Given the description of an element on the screen output the (x, y) to click on. 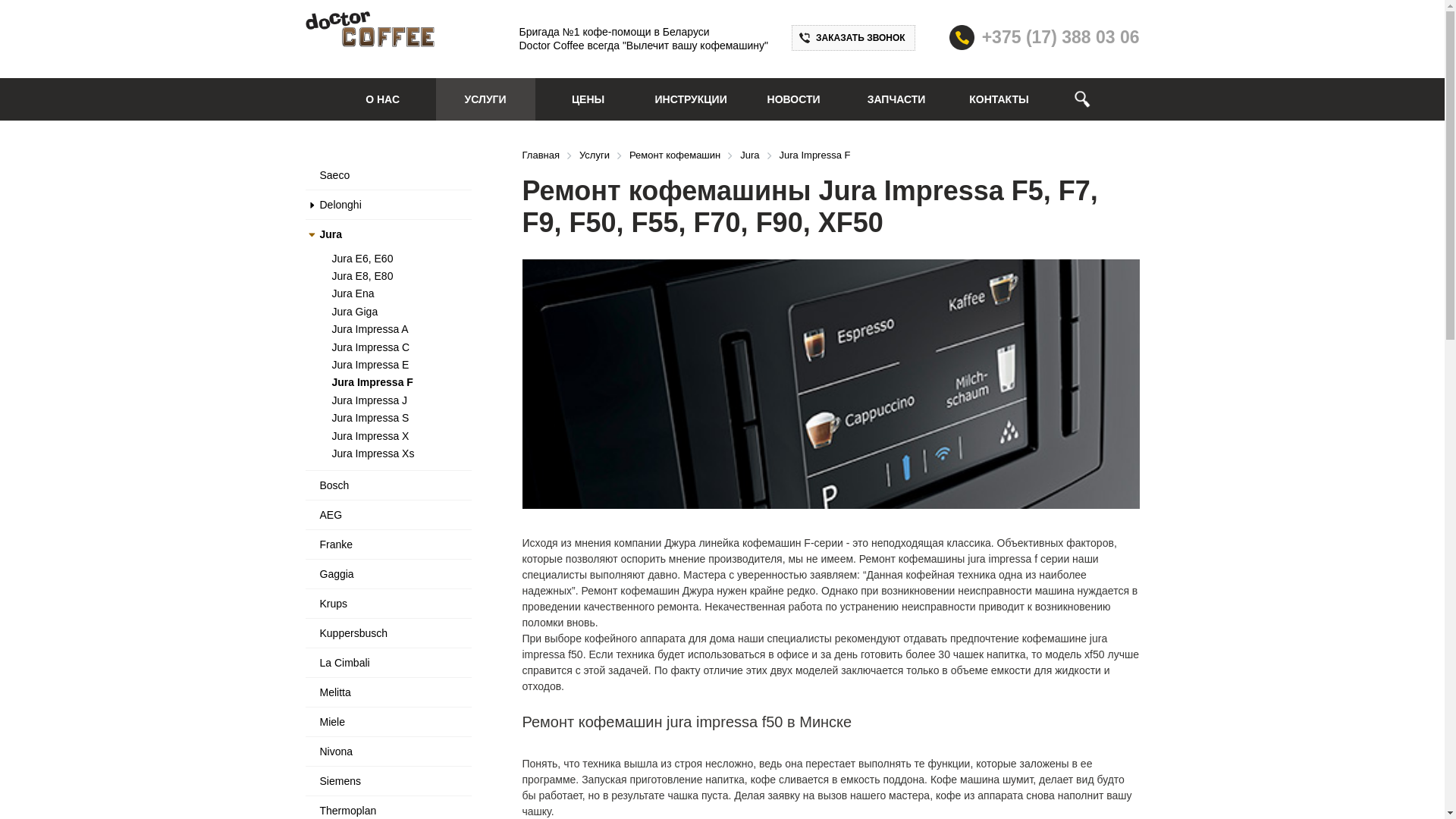
Delonghi Element type: text (340, 204)
AEG Element type: text (331, 514)
Jura Impressa A Element type: text (370, 329)
Gaggia Element type: text (337, 573)
Jura Impressa E Element type: text (370, 364)
Miele Element type: text (332, 721)
Jura E8, E80 Element type: text (362, 275)
Jura Impressa C Element type: text (371, 347)
Jura Impressa J Element type: text (369, 400)
Jura Ena Element type: text (353, 293)
Jura Element type: text (749, 154)
Jura Element type: text (331, 234)
Jura Impressa F Element type: text (372, 382)
Franke Element type: text (336, 544)
Siemens Element type: text (340, 781)
Saeco Element type: text (335, 175)
Jura Giga Element type: text (355, 311)
Thermoplan Element type: text (348, 810)
Jura Impressa X Element type: text (370, 435)
Jura E6, E60 Element type: text (362, 258)
Jura Impressa S Element type: text (370, 417)
Bosch Element type: text (334, 485)
Melitta Element type: text (335, 692)
Kuppersbusch Element type: text (354, 633)
Jura Impressa Xs Element type: text (373, 453)
Krups Element type: text (334, 603)
85342f99ea4240d118eb250d7d72dfab (1).png Element type: hover (368, 29)
Nivona Element type: text (336, 751)
+375 (17) 388 03 06 Element type: text (1060, 37)
